Given the description of an element on the screen output the (x, y) to click on. 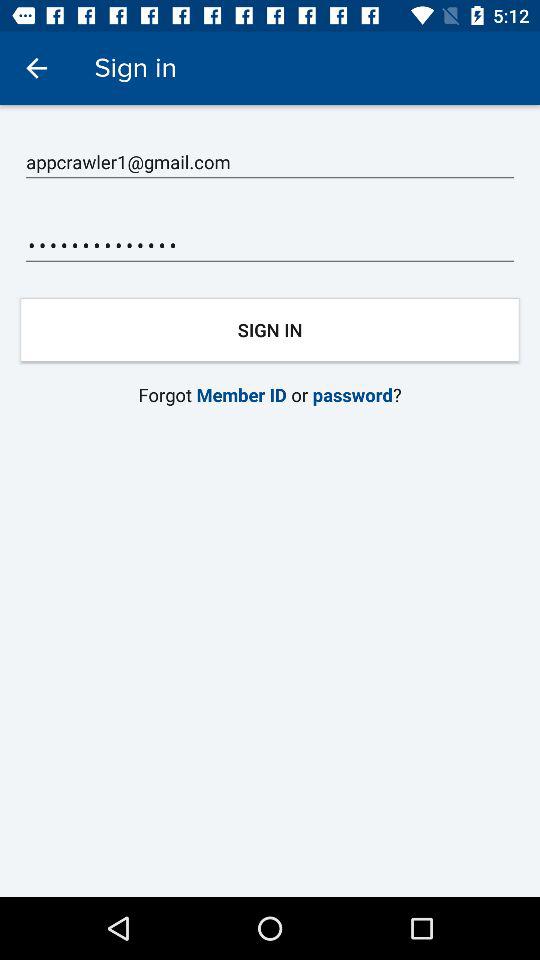
turn on the forgot member id icon (270, 394)
